Given the description of an element on the screen output the (x, y) to click on. 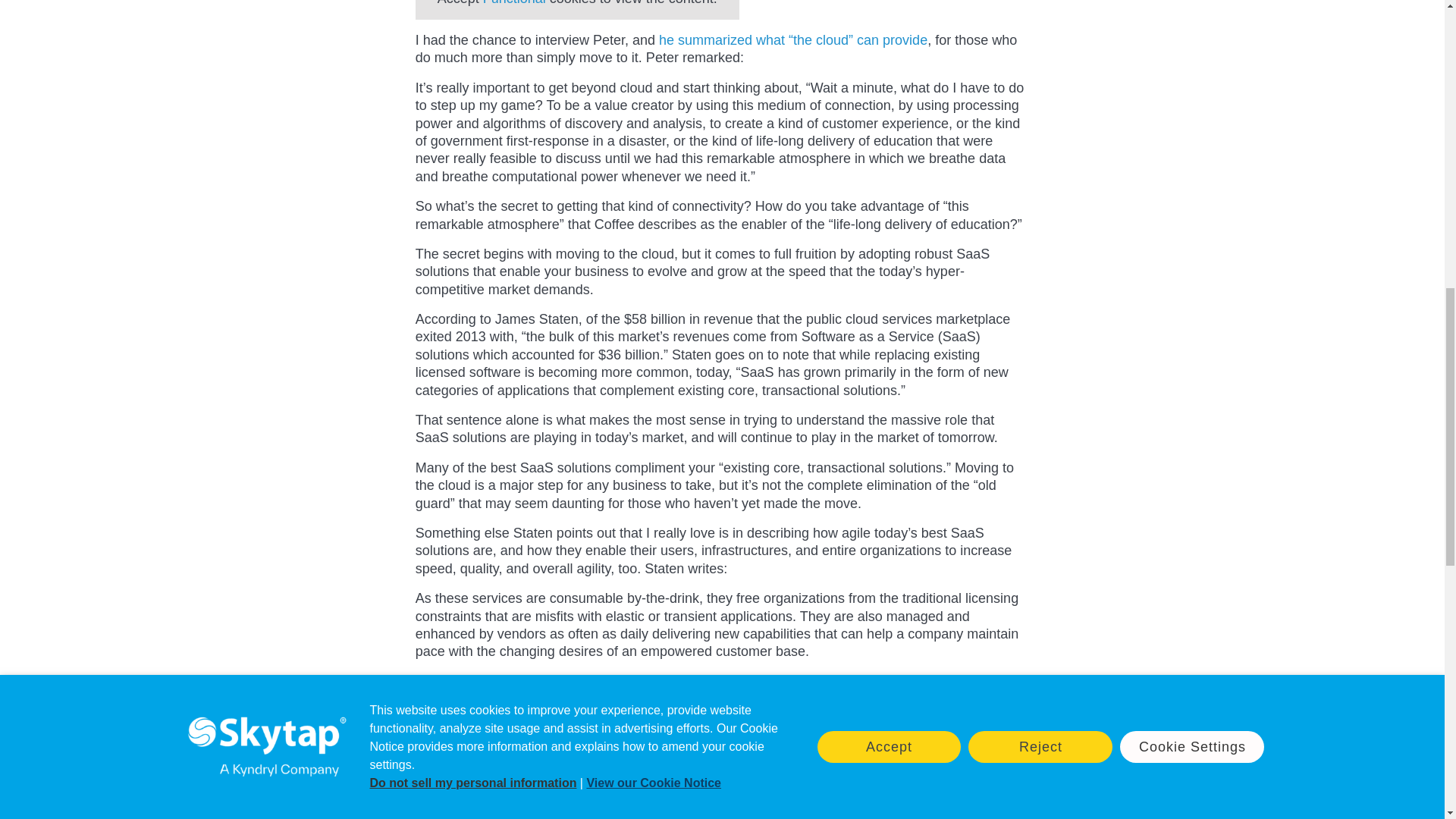
cost savings is the driving factor (676, 698)
Functional (514, 2)
